Given the description of an element on the screen output the (x, y) to click on. 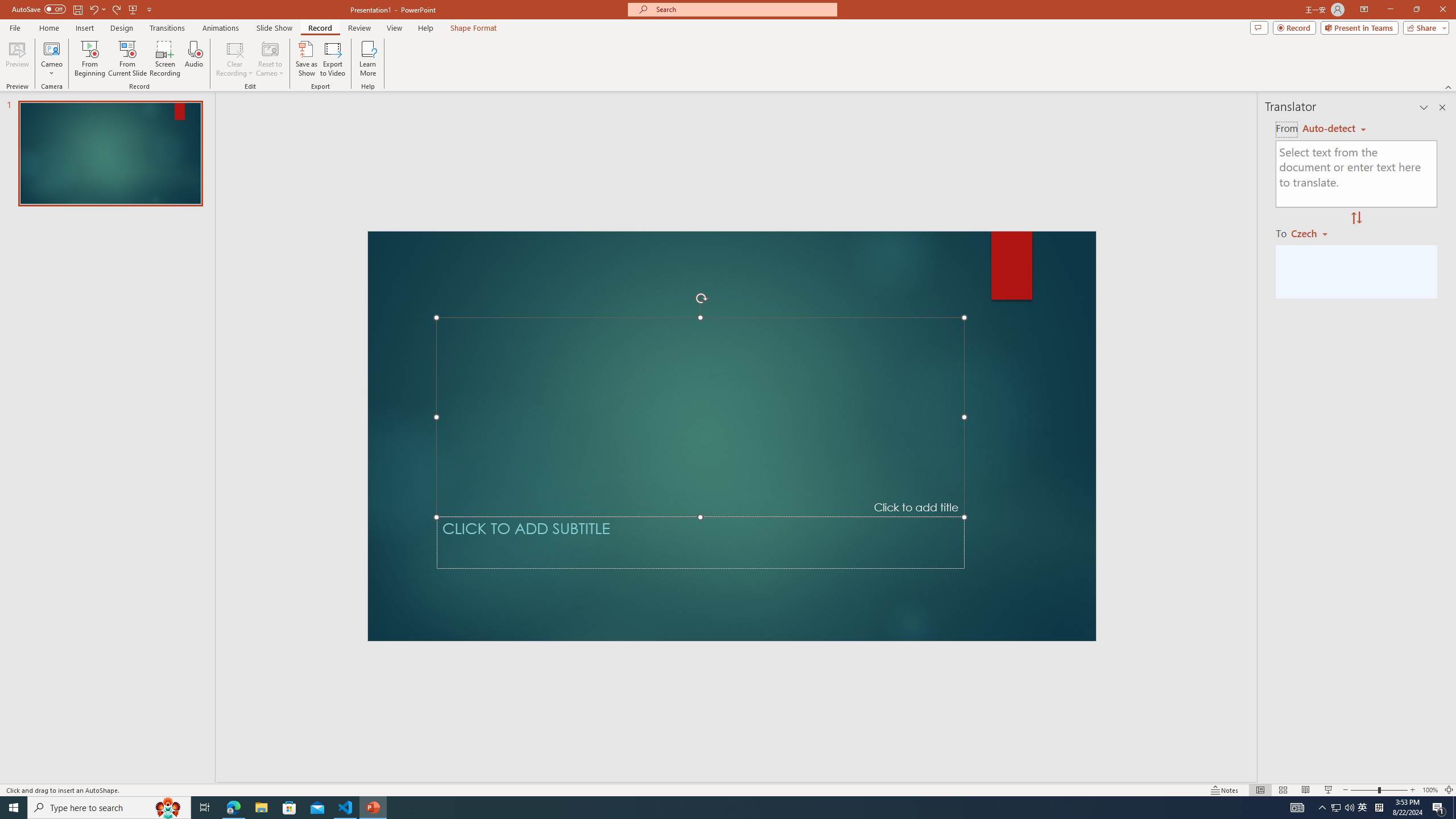
Customize Quick Access Toolbar (149, 9)
Minimize (1390, 9)
Close pane (1441, 107)
Notes  (1225, 790)
Swap "from" and "to" languages. (1355, 218)
Transitions (167, 28)
Zoom (1379, 790)
Close (1442, 9)
Animations (220, 28)
Subtitle TextBox (699, 542)
Zoom Out (1364, 790)
Title TextBox (699, 416)
